Given the description of an element on the screen output the (x, y) to click on. 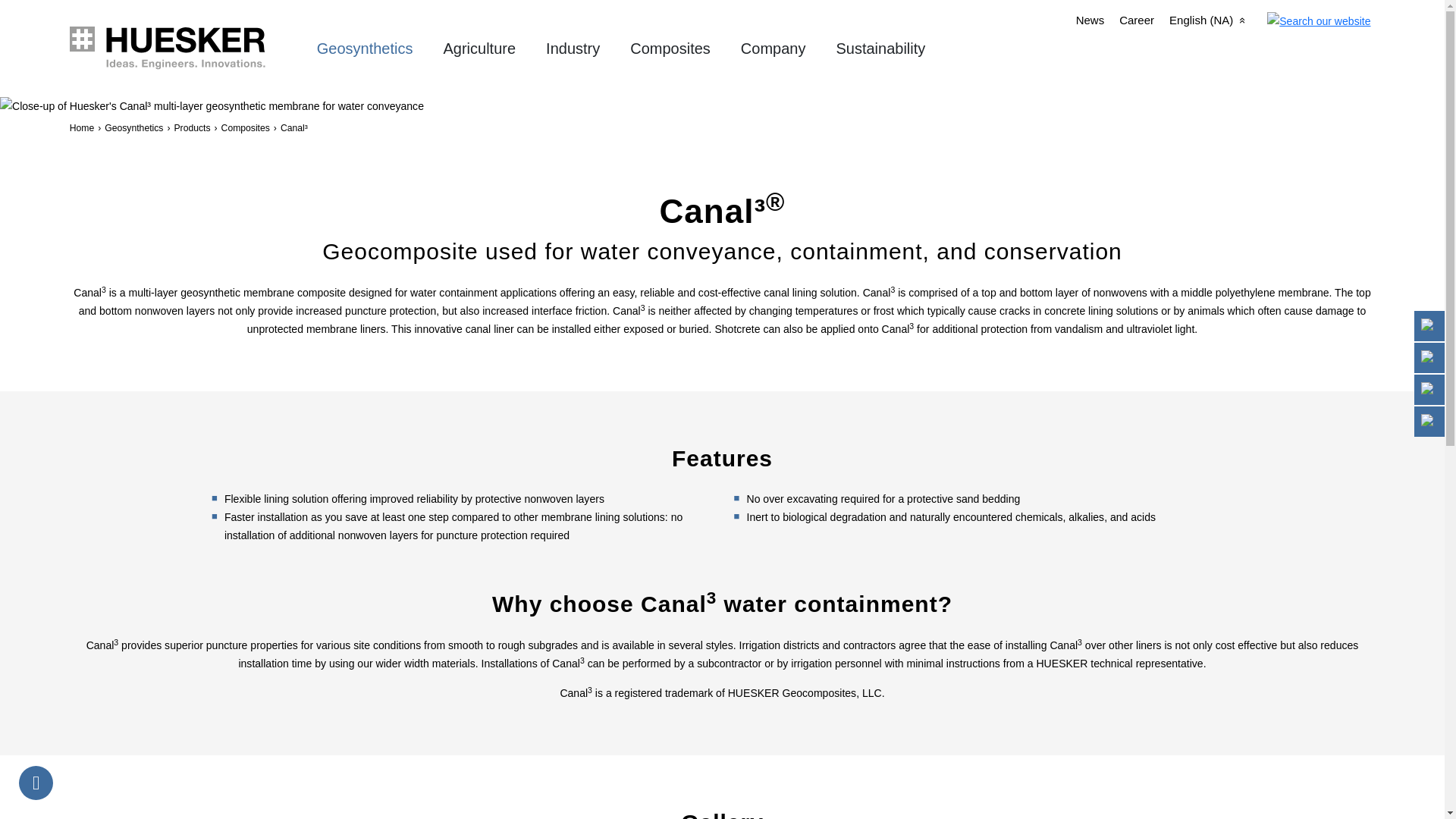
Hueskers larger logo - ideas, engineers, innovations (185, 47)
Career (1136, 20)
Search (1318, 20)
Website search (1318, 21)
Hueskers logo represents geotextile materials (81, 38)
Home (168, 47)
Career (1136, 20)
Geosynthetics (365, 48)
News (1090, 20)
News (1090, 20)
